Given the description of an element on the screen output the (x, y) to click on. 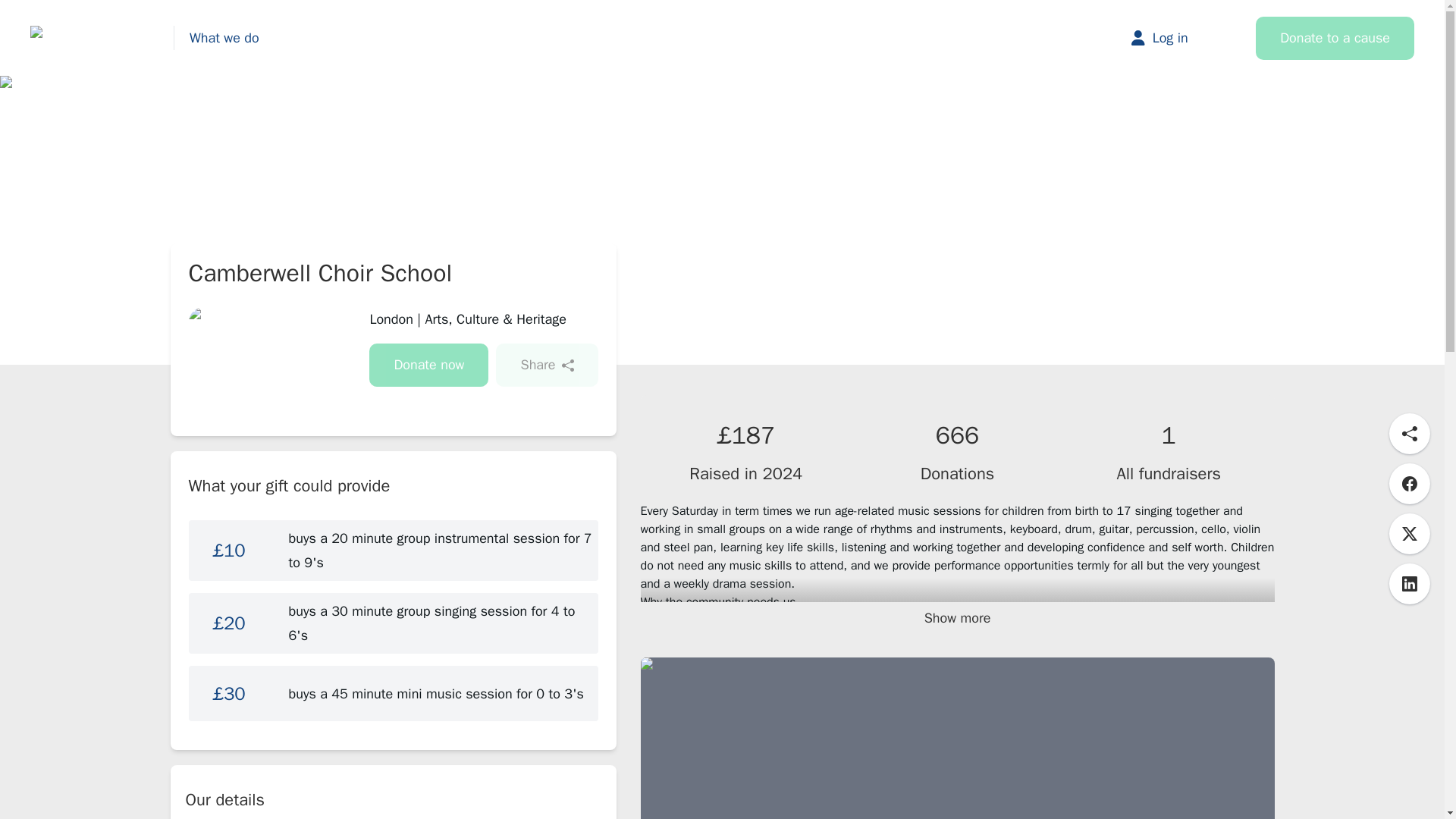
Donate now (428, 364)
Log in (1173, 37)
Share (546, 364)
Show more (957, 617)
Donate to a cause (1334, 37)
